Given the description of an element on the screen output the (x, y) to click on. 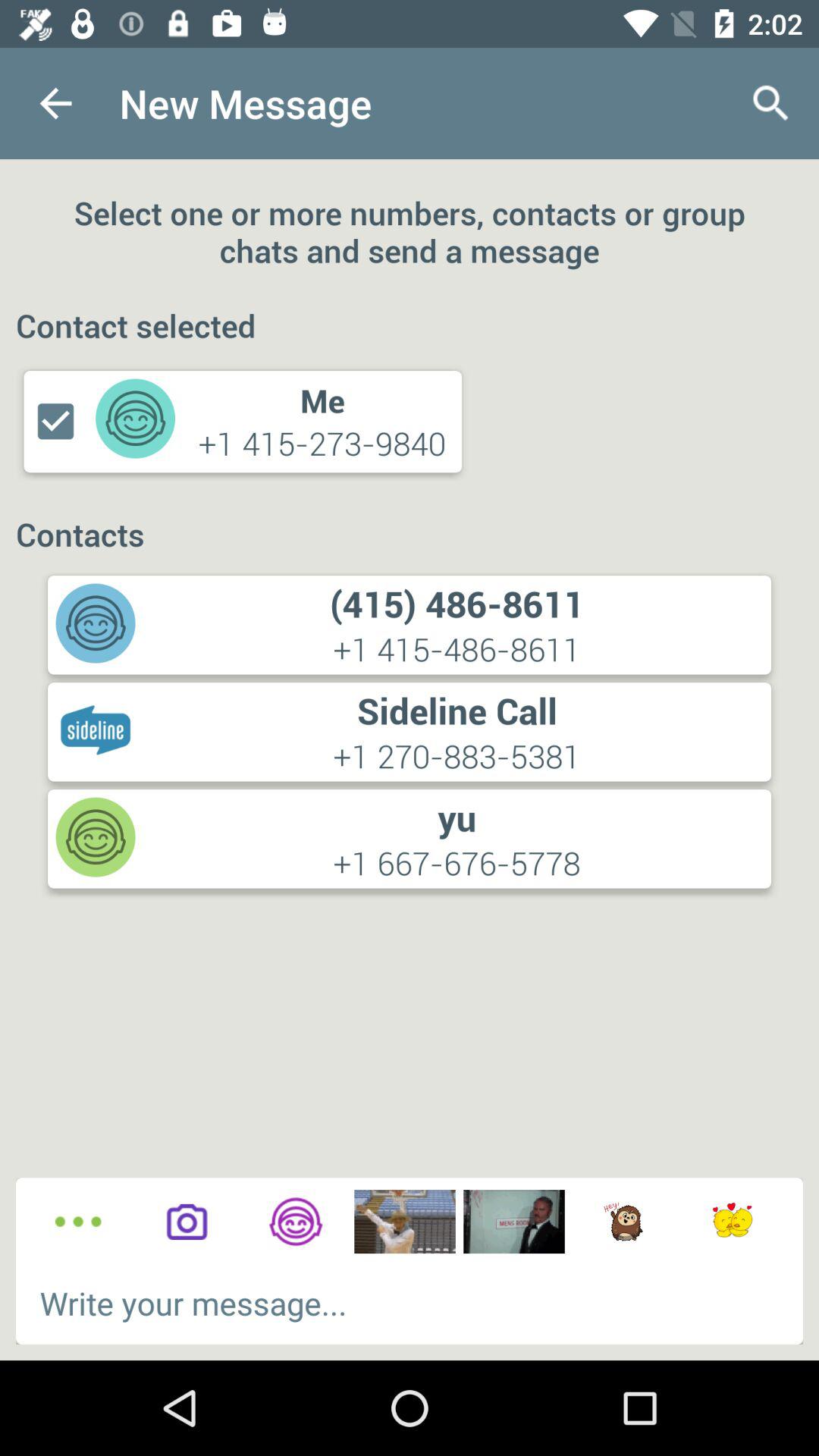
select app to the right of new message app (771, 103)
